Given the description of an element on the screen output the (x, y) to click on. 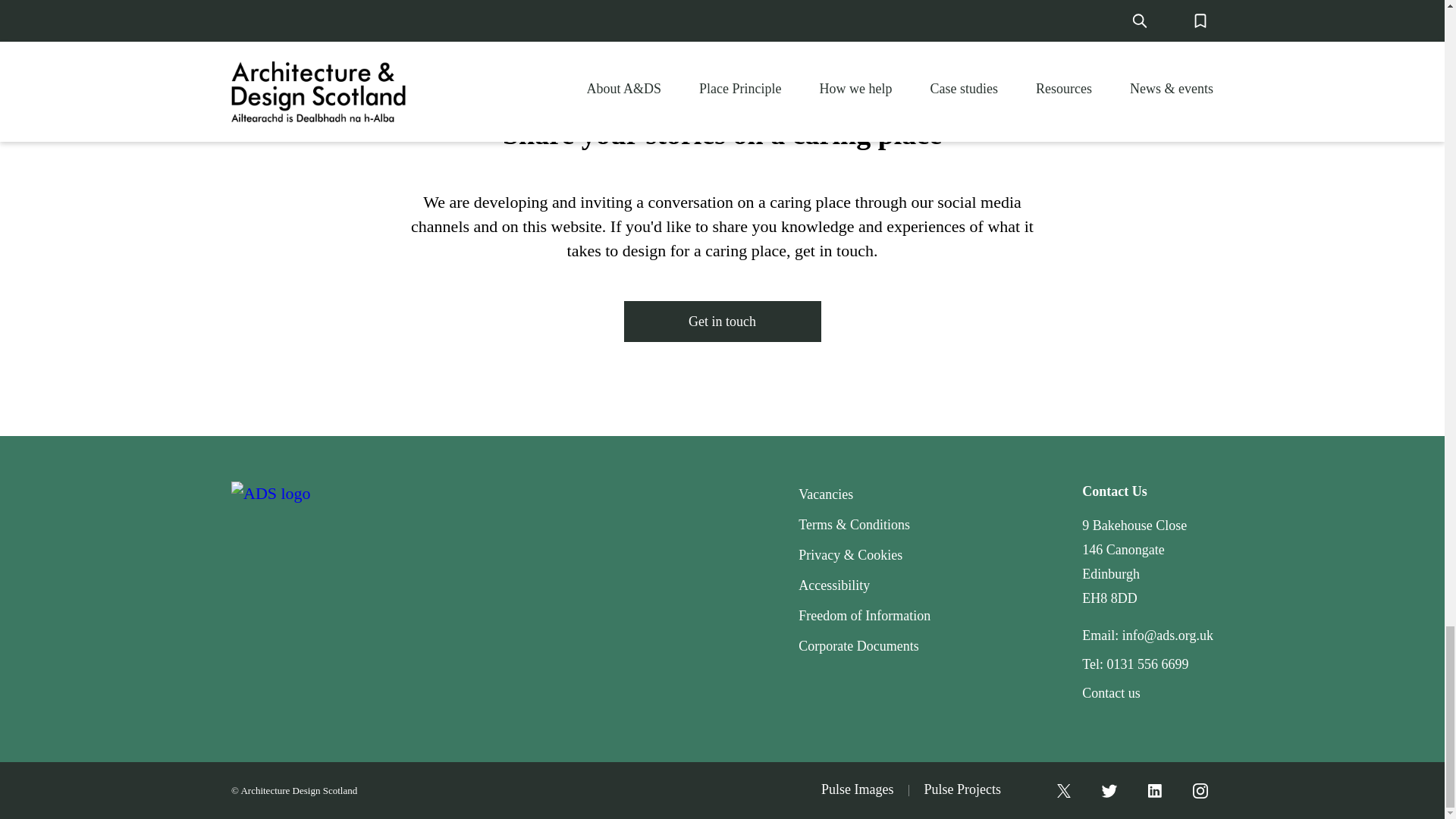
Tel: 0131 556 6699 (1134, 664)
Corporate Documents (857, 646)
Freedom of Information (863, 615)
Pulse Projects (962, 790)
Pulse Images (857, 790)
Accessibility (833, 585)
Contact us (1110, 692)
Get in touch (722, 321)
Vacancies (825, 493)
